Given the description of an element on the screen output the (x, y) to click on. 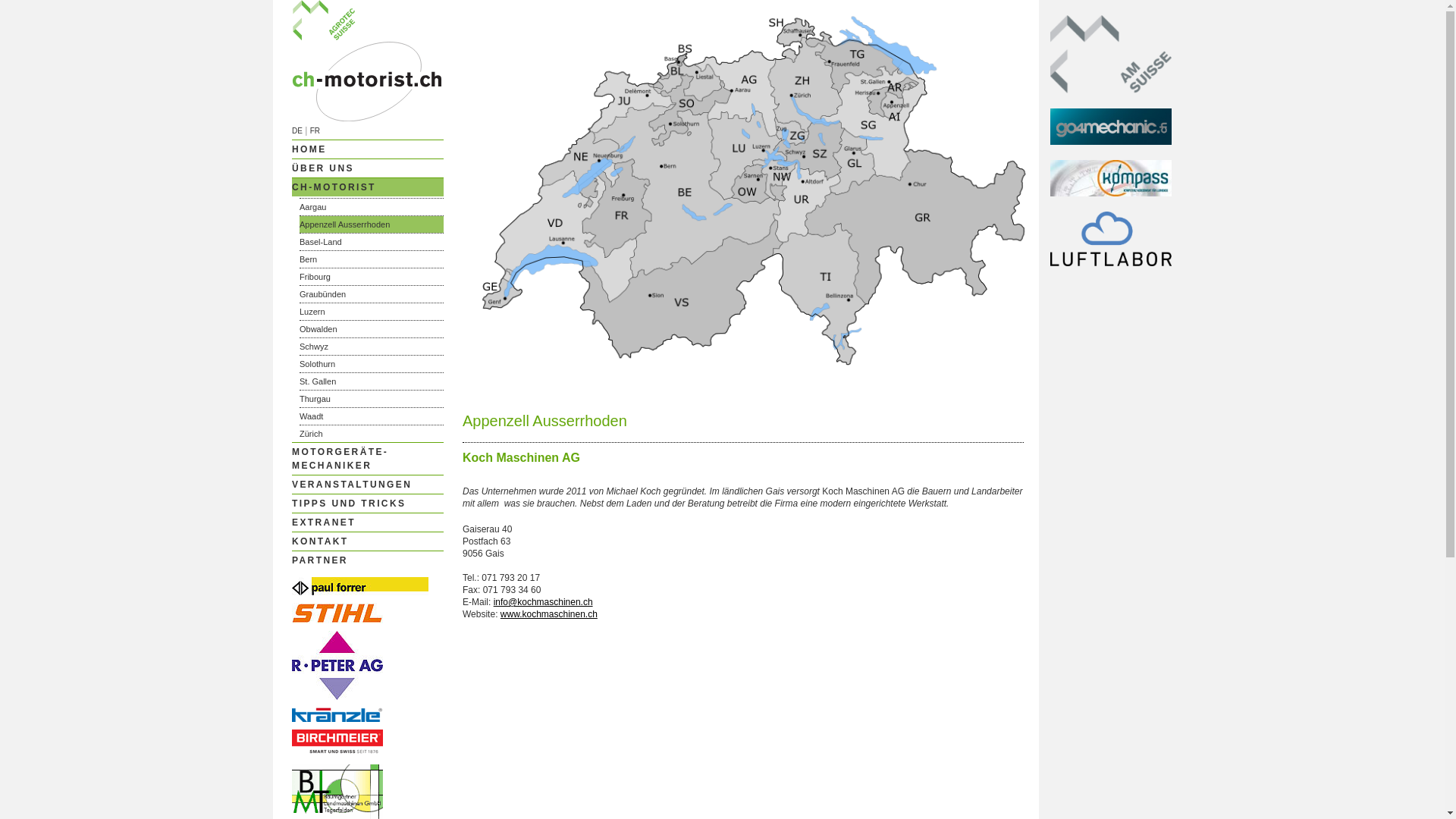
CH-MOTORIST Element type: text (367, 187)
EXTRANET Element type: text (367, 522)
Aargau Element type: text (371, 206)
DE Element type: text (296, 130)
Appenzell Ausserrhoden Element type: text (371, 224)
Bern Element type: text (371, 259)
www.kochmaschinen.ch Element type: text (548, 613)
VERANSTALTUNGEN Element type: text (367, 484)
PARTNER Element type: text (367, 560)
KONTAKT Element type: text (367, 541)
Luzern Element type: text (371, 311)
CH-Motorist Element type: hover (367, 117)
St. Gallen Element type: text (371, 381)
Thurgau Element type: text (371, 398)
Waadt Element type: text (371, 415)
HOME Element type: text (367, 149)
Fribourg Element type: text (371, 276)
Obwalden Element type: text (371, 328)
info@kochmaschinen.ch Element type: text (543, 601)
TIPPS UND TRICKS Element type: text (367, 503)
Basel-Land Element type: text (371, 241)
Solothurn Element type: text (371, 363)
Schwyz Element type: text (371, 346)
FR Element type: text (315, 130)
